Given the description of an element on the screen output the (x, y) to click on. 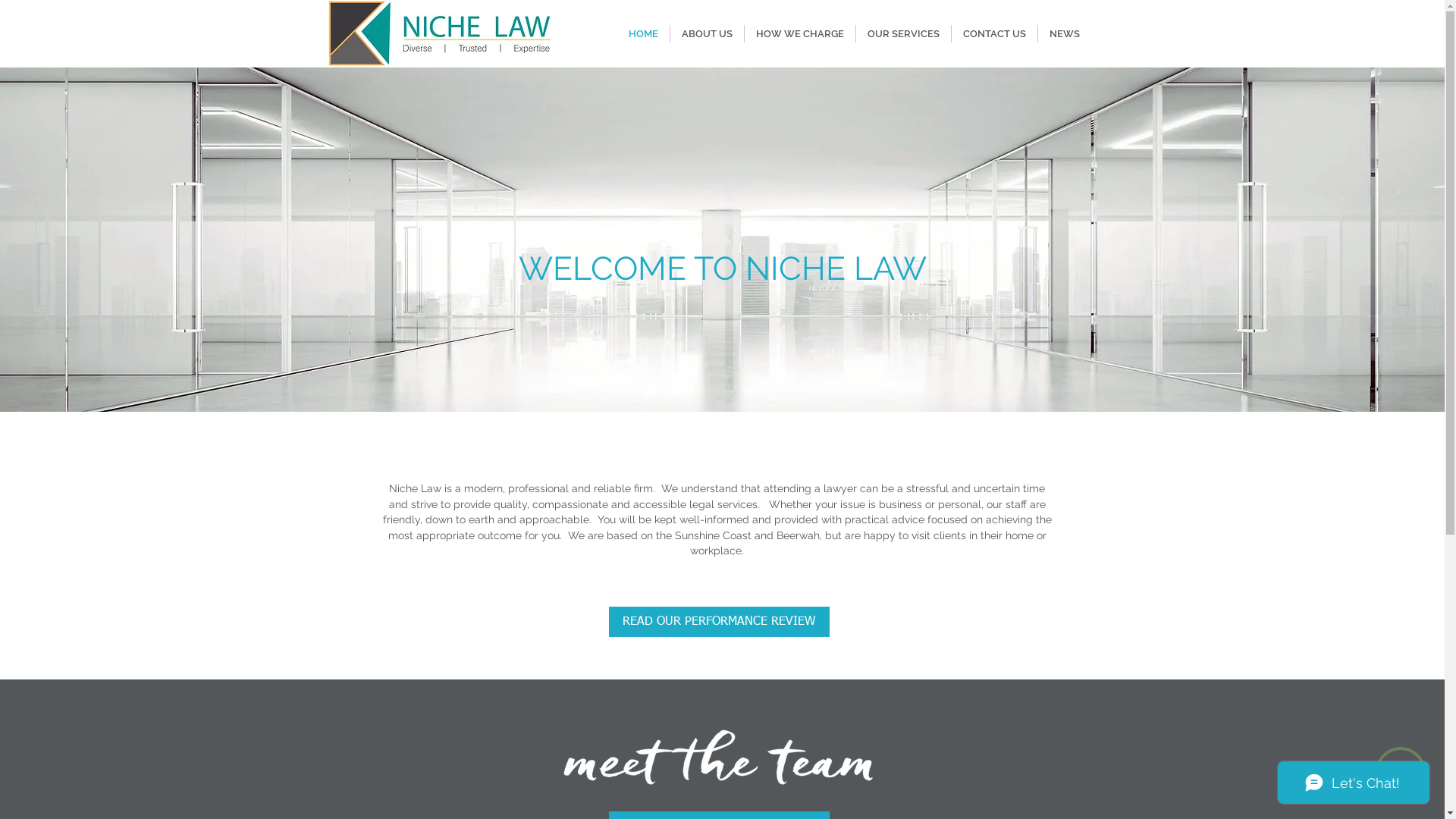
ABOUT US Element type: text (706, 33)
NEWS Element type: text (1063, 33)
HOME Element type: text (643, 33)
CONTACT US Element type: text (993, 33)
HOW WE CHARGE Element type: text (799, 33)
OUR SERVICES Element type: text (902, 33)
